Given the description of an element on the screen output the (x, y) to click on. 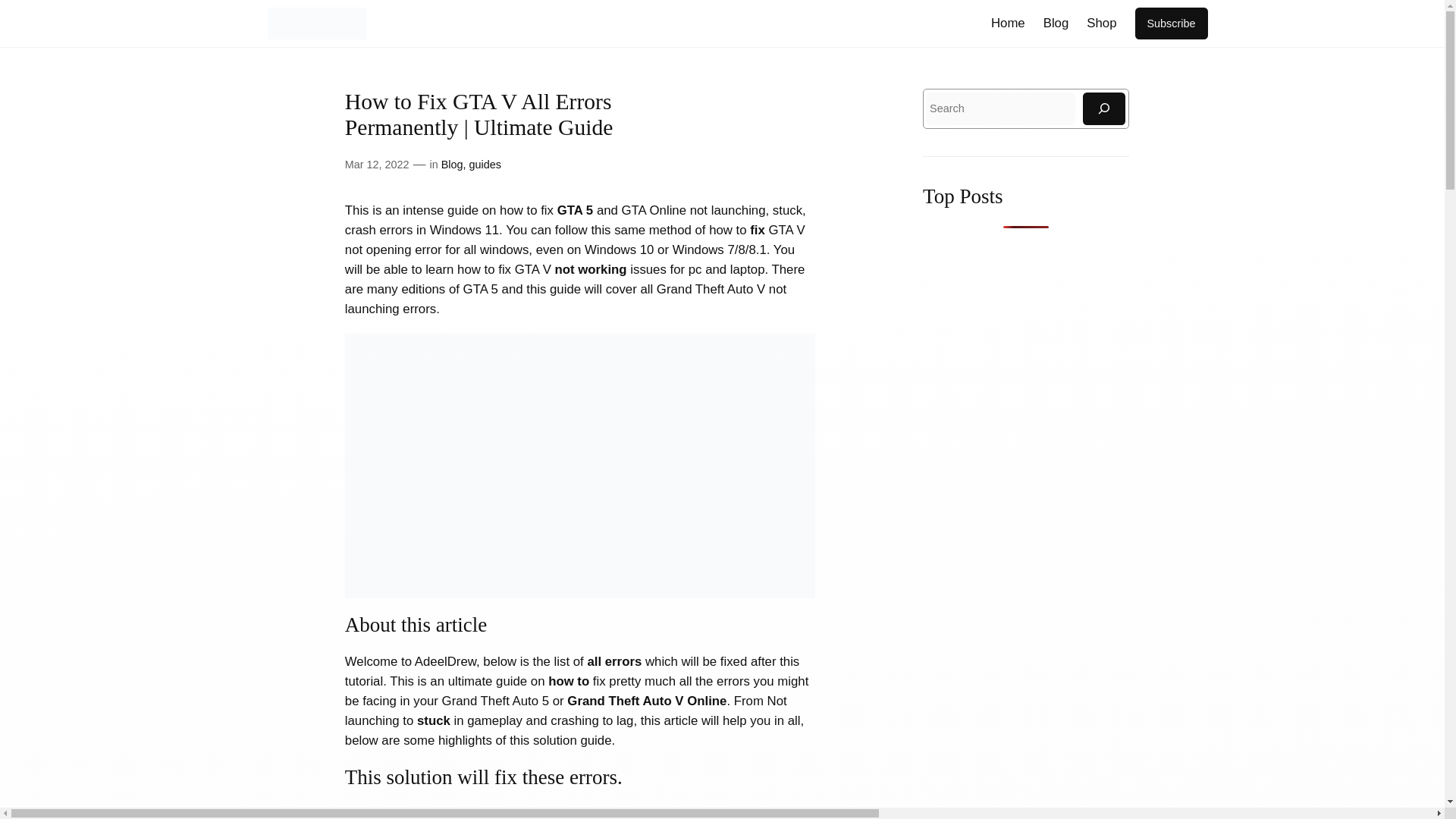
Home (1008, 23)
Blog (1055, 23)
Blog (452, 164)
Mar 12, 2022 (377, 164)
Games and Apps in Discount - Shop (1101, 23)
Shop (1101, 23)
Subscribe (1170, 23)
guides (484, 164)
